Given the description of an element on the screen output the (x, y) to click on. 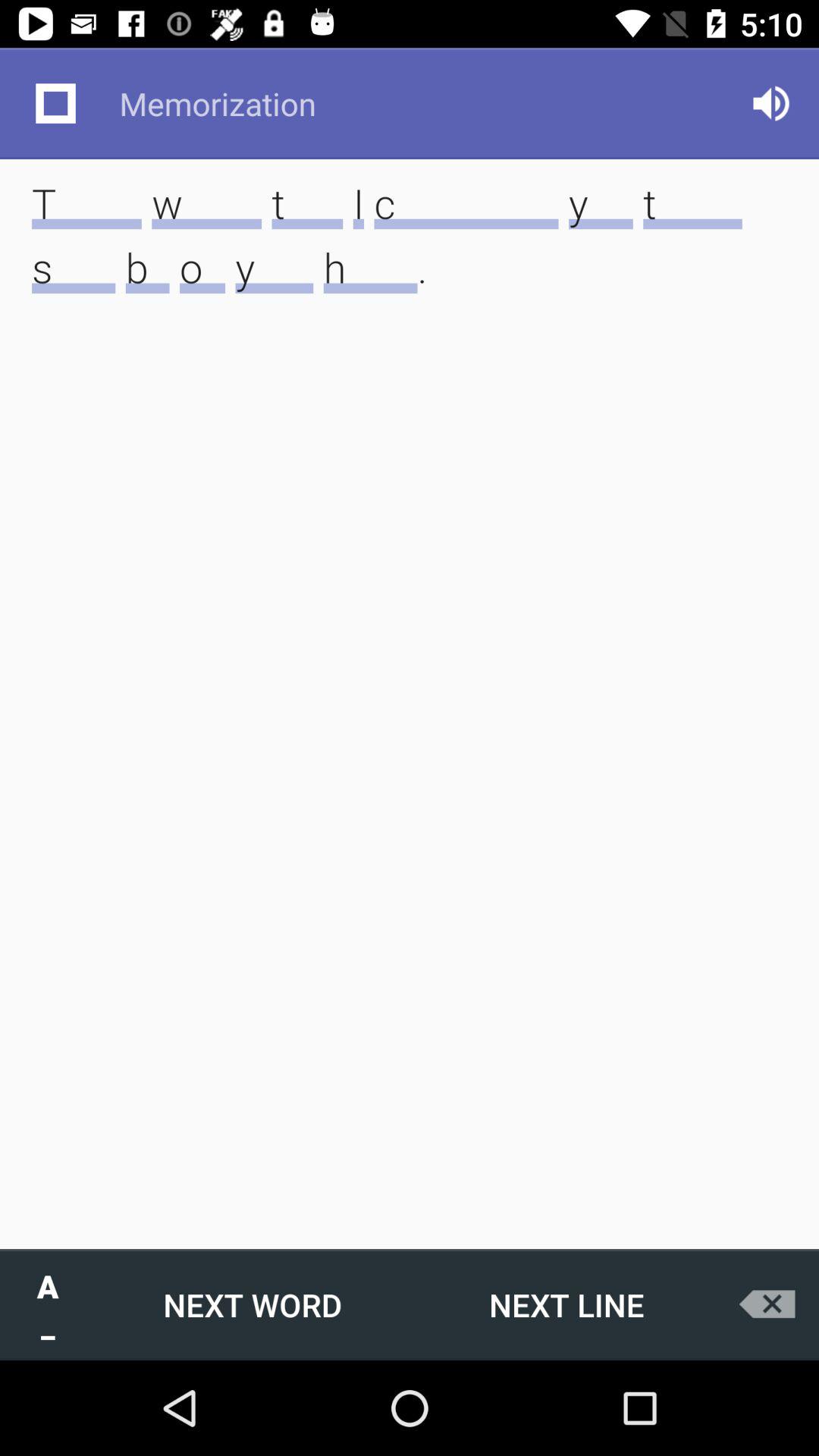
choose item next to next word (47, 1304)
